Given the description of an element on the screen output the (x, y) to click on. 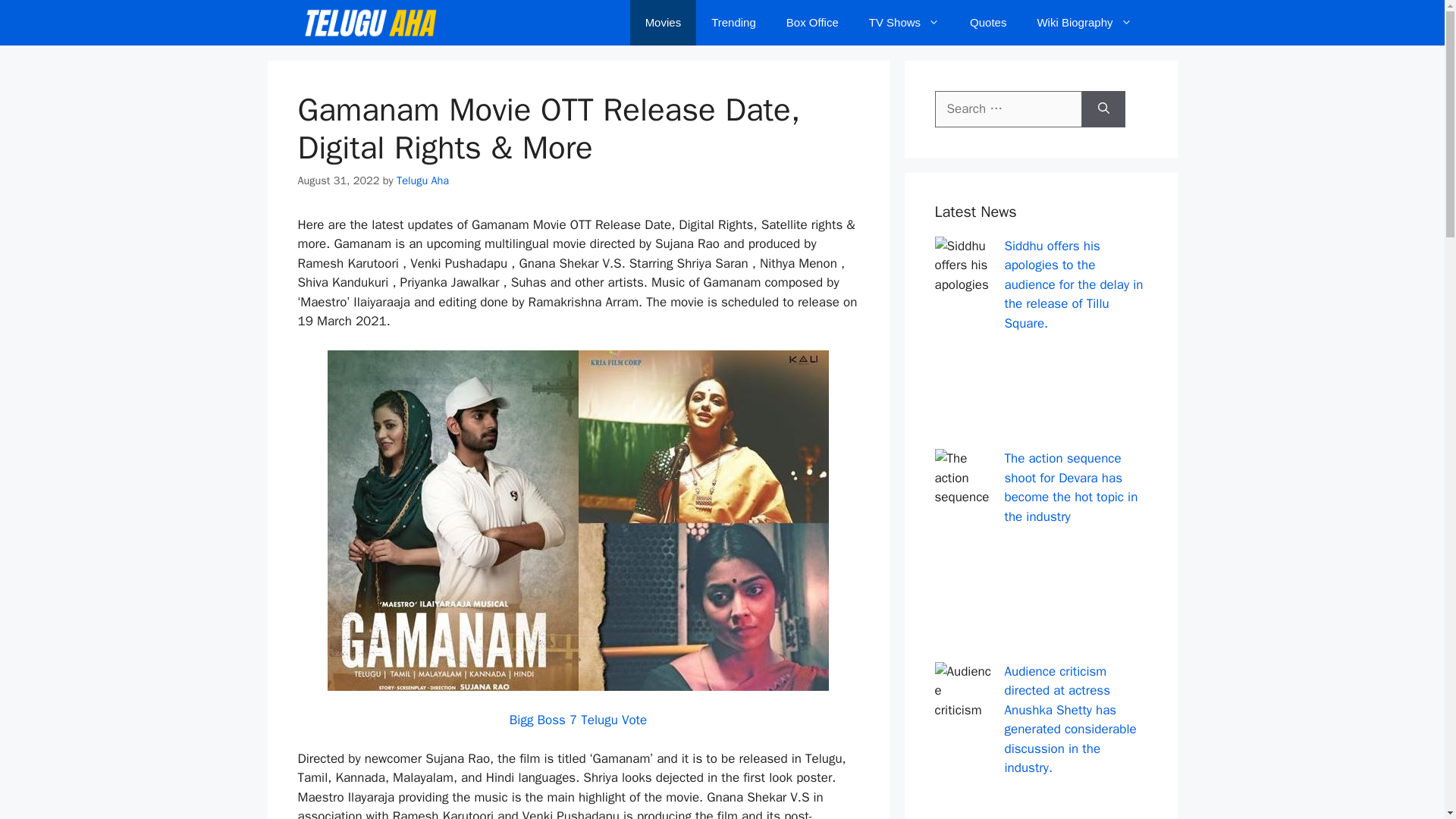
Bigg Boss 7 Telugu Vote (577, 719)
TeluguAha (369, 22)
Telugu Aha (422, 180)
Box Office (812, 22)
TV Shows (904, 22)
Trending (733, 22)
Wiki Biography (1084, 22)
View all posts by Telugu Aha (422, 180)
Quotes (988, 22)
